Given the description of an element on the screen output the (x, y) to click on. 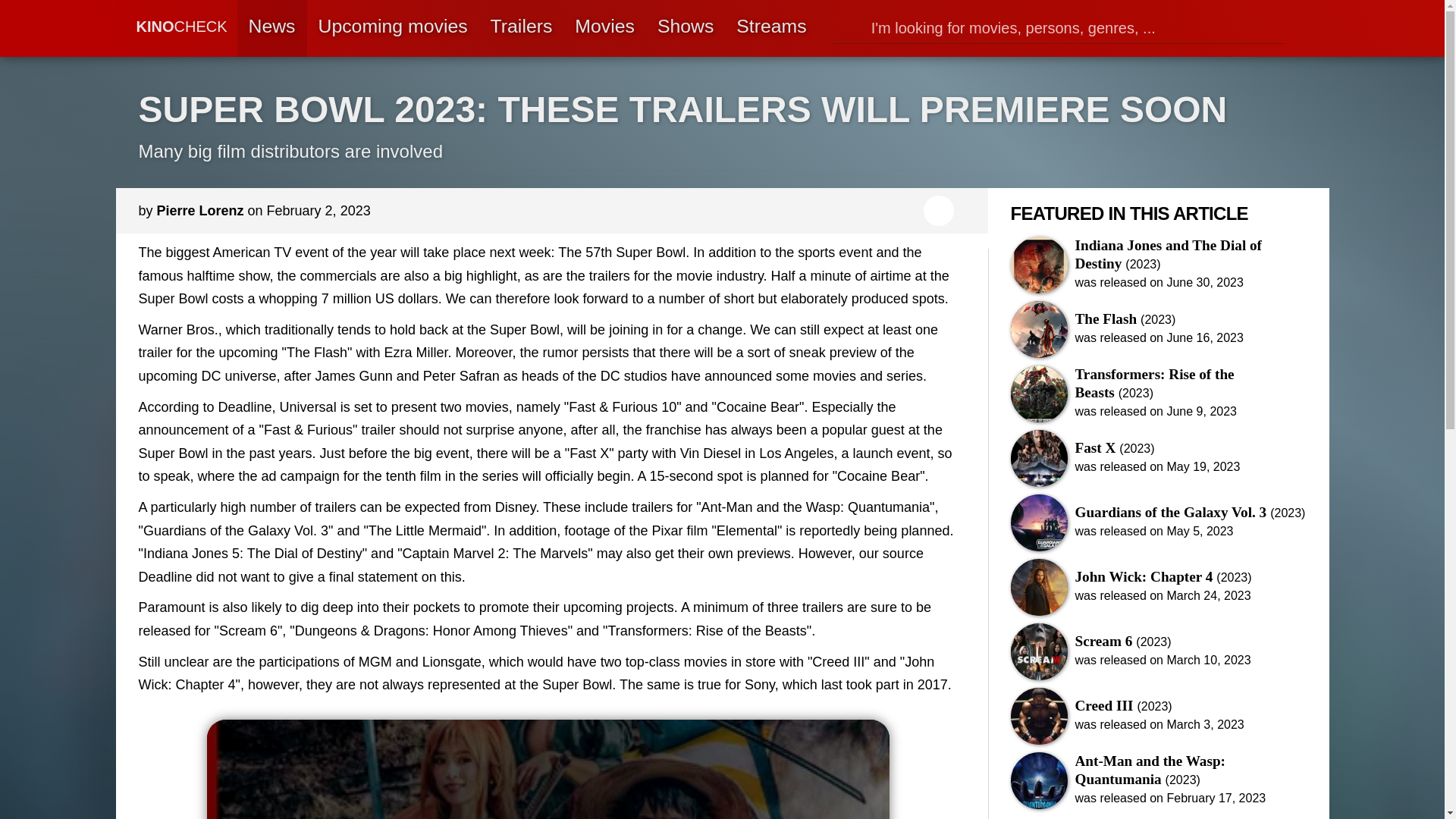
Our movie Database (604, 28)
Videos, Infos und Nachrichten zu Scream 6 (1158, 651)
Current cinema releases (393, 28)
Upcoming movies (393, 28)
Super Bowl 2023: Diese Trailer feiern bald ihre Premiere (1304, 28)
Videos, Infos und Nachrichten zu John Wick: Chapter 4 (1158, 586)
Shows (685, 28)
Trailers (521, 28)
News (270, 28)
Browse our trailers and movie database (1058, 28)
Our tv show Database (685, 28)
Streams (770, 28)
KINOCHECK (168, 28)
